Given the description of an element on the screen output the (x, y) to click on. 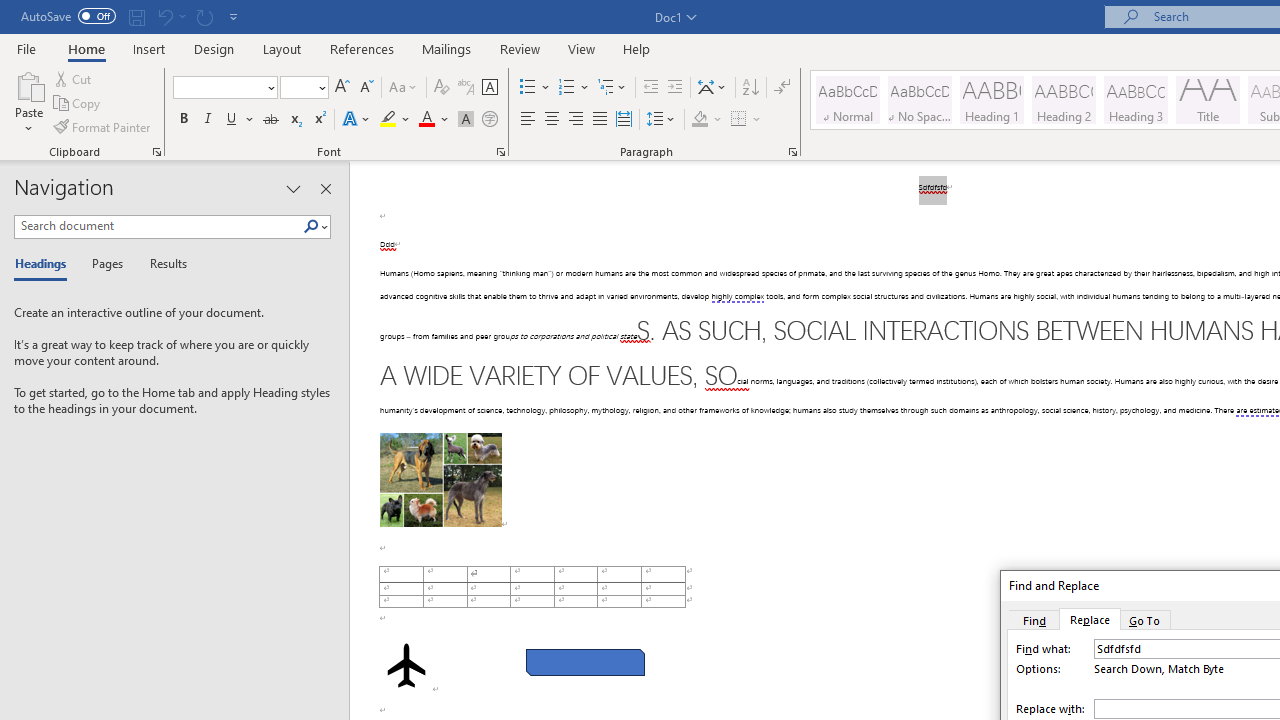
Shrink Font (365, 87)
Text Highlight Color (395, 119)
Grow Font (342, 87)
Undo Paragraph Alignment (164, 15)
Bold (183, 119)
Search document (157, 226)
Heading 3 (1135, 100)
